Given the description of an element on the screen output the (x, y) to click on. 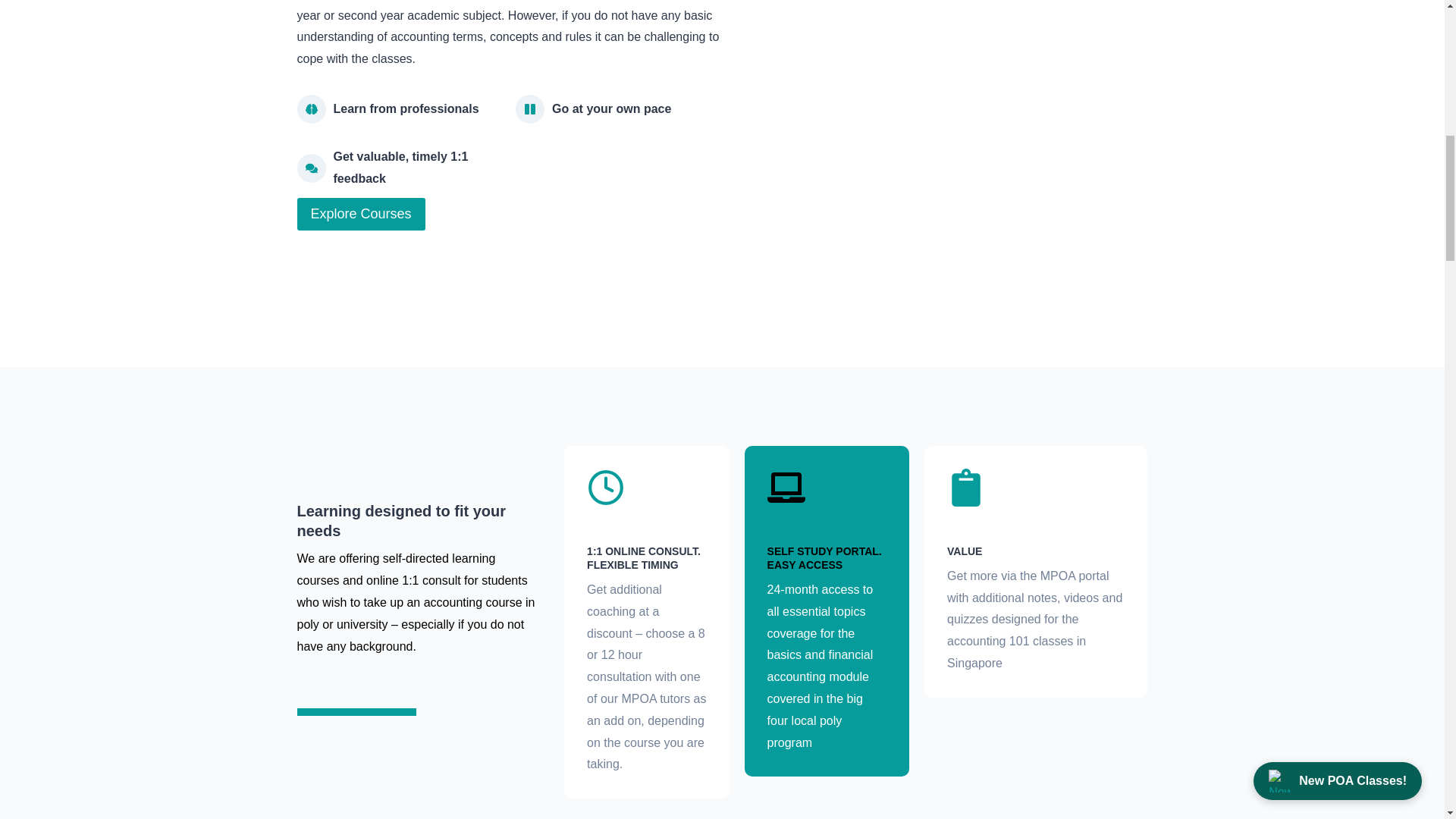
Explore Courses (361, 214)
